Given the description of an element on the screen output the (x, y) to click on. 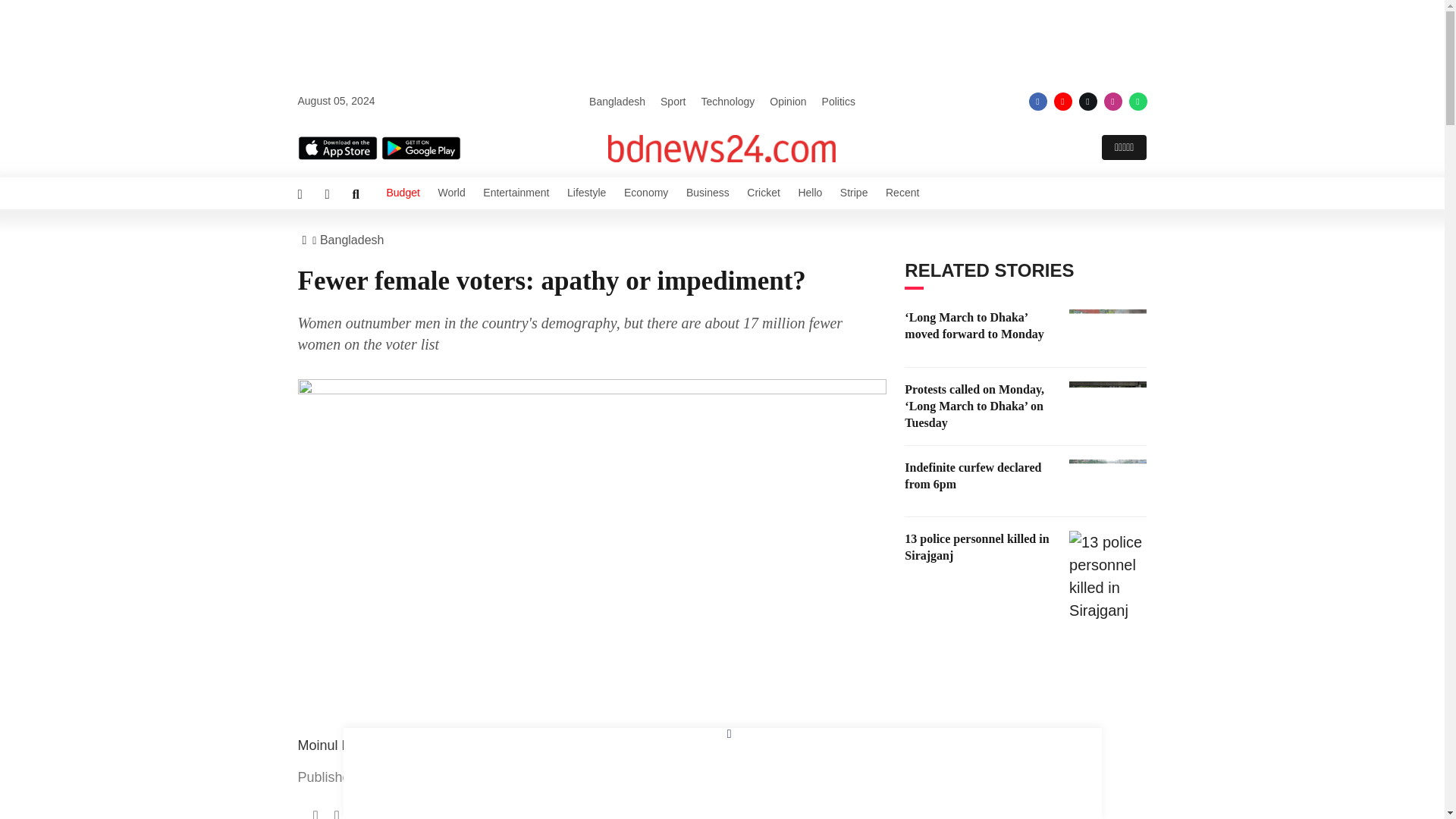
bdnews24.com (721, 148)
Indefinite curfew declared from 6pm (1107, 481)
